Given the description of an element on the screen output the (x, y) to click on. 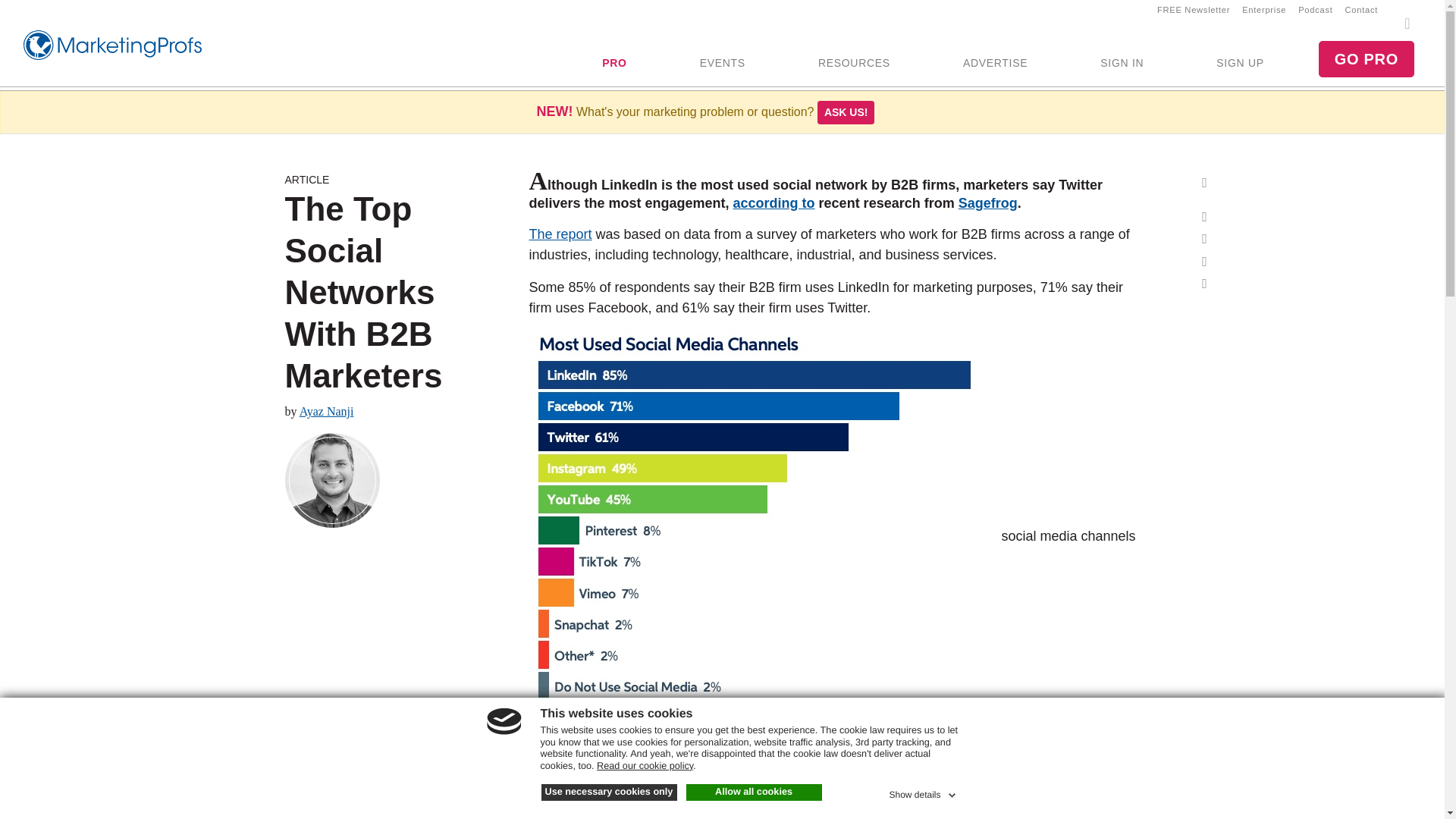
Use necessary cookies only (609, 791)
Read our cookie policy (644, 765)
Show details (923, 791)
Allow all cookies (753, 791)
